Given the description of an element on the screen output the (x, y) to click on. 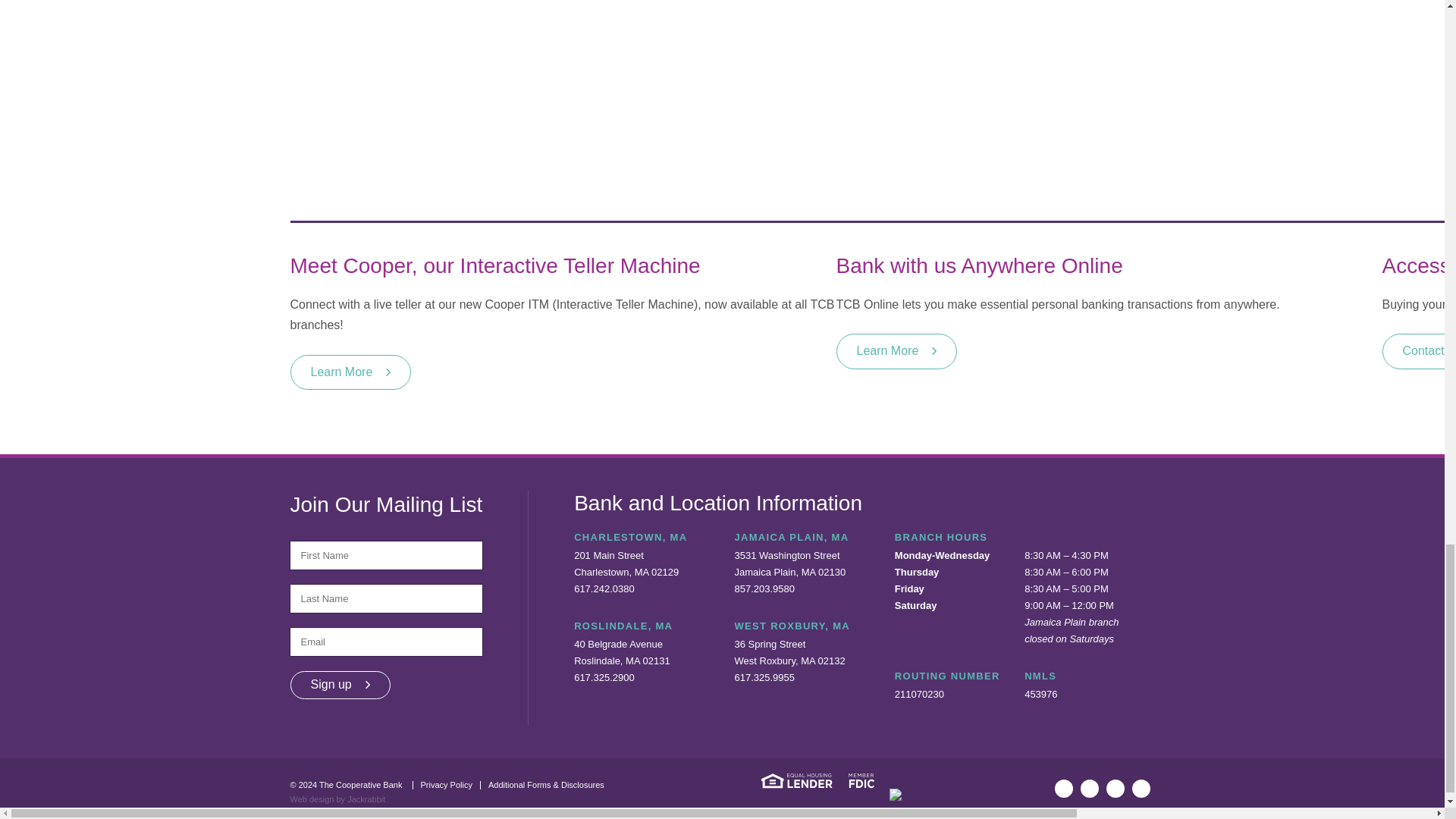
Sign up (339, 684)
Contact (1418, 350)
Learn More (895, 350)
Learn More (349, 371)
